Given the description of an element on the screen output the (x, y) to click on. 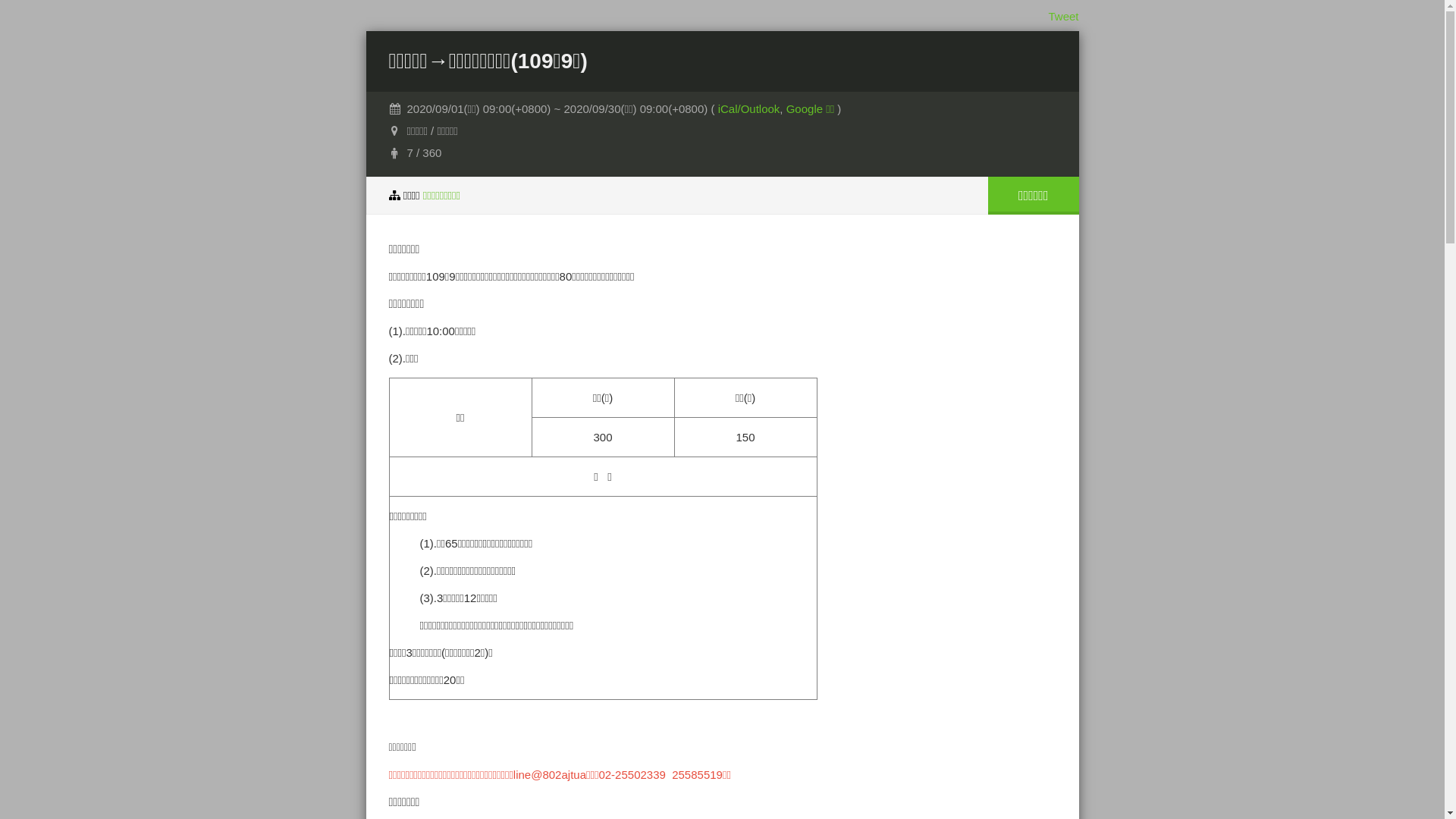
Tweet Element type: text (1063, 15)
iCal/Outlook Element type: text (749, 108)
